Given the description of an element on the screen output the (x, y) to click on. 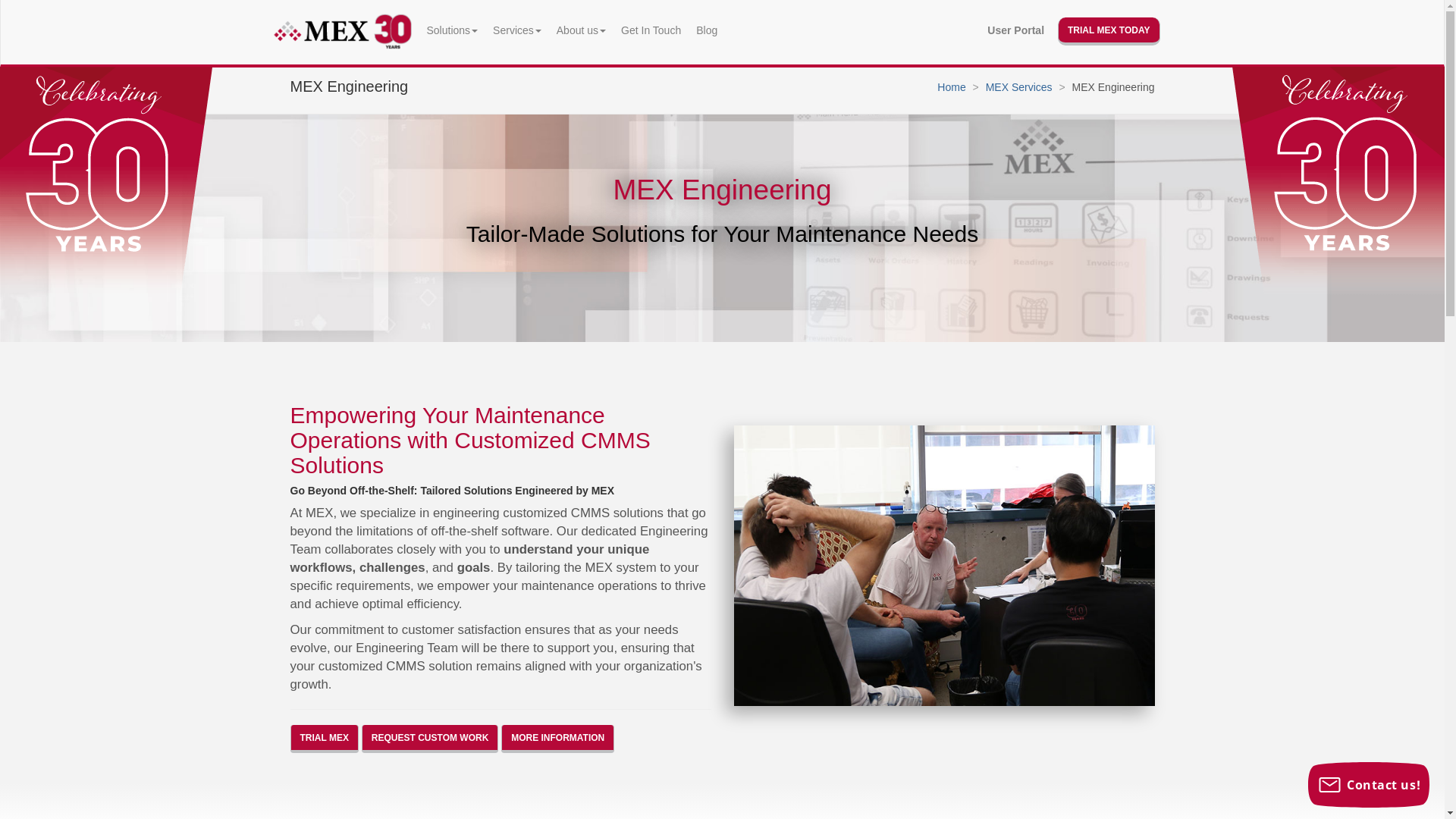
MEX 30 Year Anniversary Element type: hover (1338, 218)
Contact us! Element type: text (1368, 784)
Get In Touch Element type: text (650, 30)
MORE INFORMATION Element type: text (557, 738)
Solutions Element type: text (451, 30)
Home Element type: text (951, 87)
MEX Services Element type: text (1018, 87)
About us Element type: text (581, 30)
TRIAL MEX TODAY Element type: text (1108, 31)
REQUEST CUSTOM WORK Element type: text (429, 738)
MEX Maintenance Software Element type: text (342, 32)
Blog Element type: text (706, 30)
User Portal Element type: text (1015, 30)
TRIAL MEX Element type: text (323, 738)
Services Element type: text (517, 30)
